Given the description of an element on the screen output the (x, y) to click on. 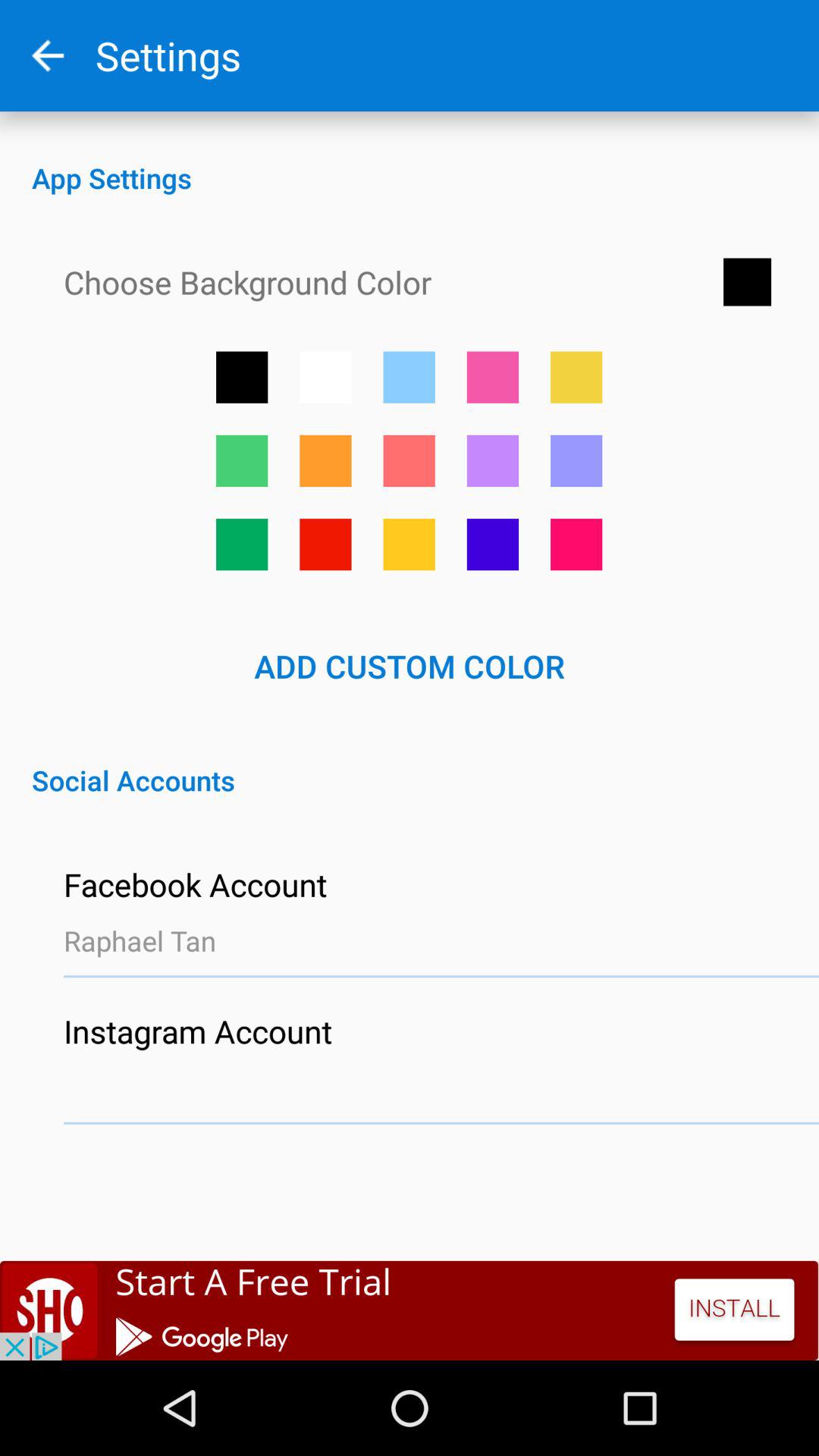
color palette (492, 460)
